Given the description of an element on the screen output the (x, y) to click on. 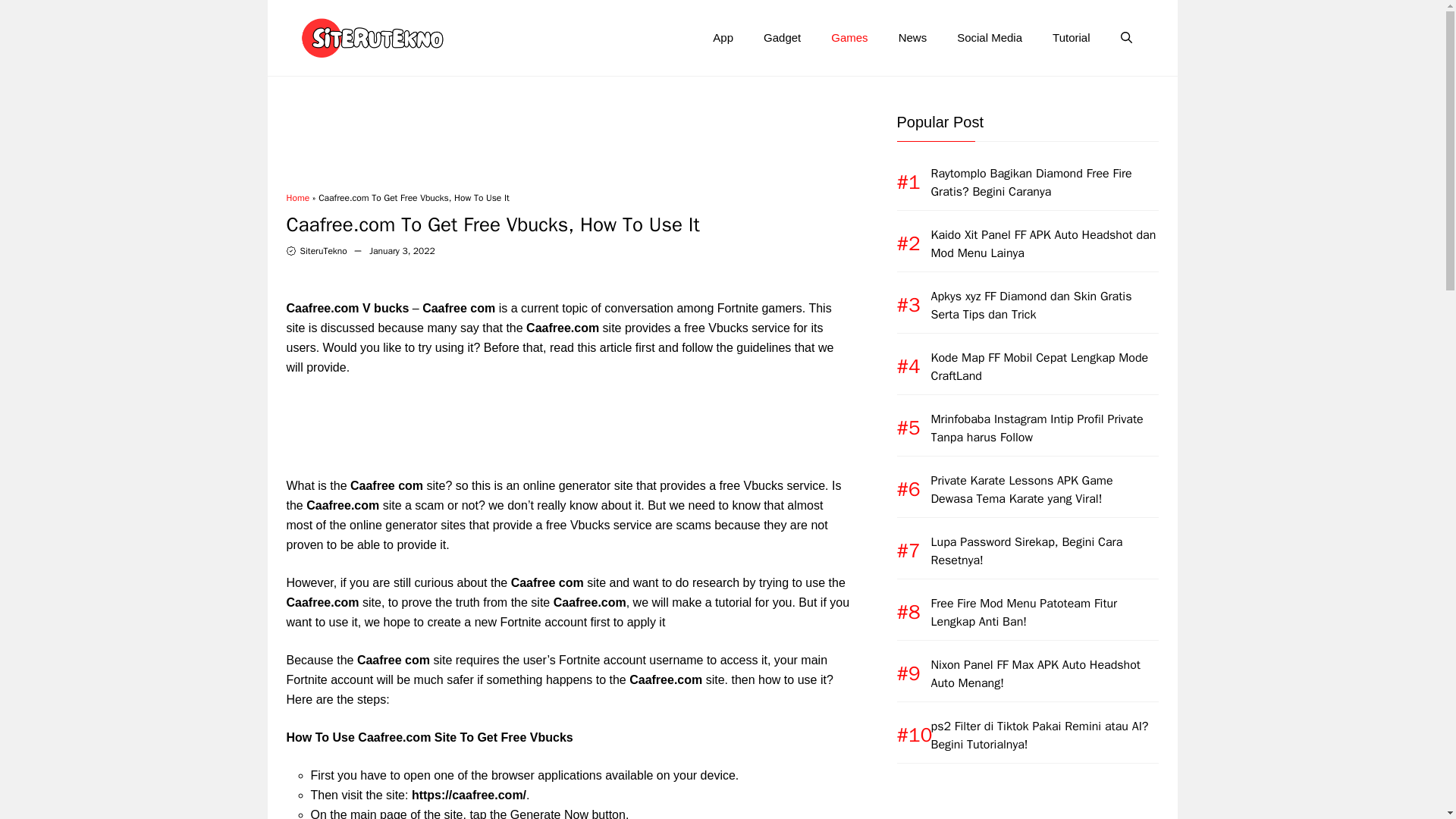
Gadget (781, 37)
Social Media (989, 37)
Tutorial (1070, 37)
SiteruTekno (323, 250)
News (912, 37)
Games (848, 37)
Home (298, 196)
App (722, 37)
